Given the description of an element on the screen output the (x, y) to click on. 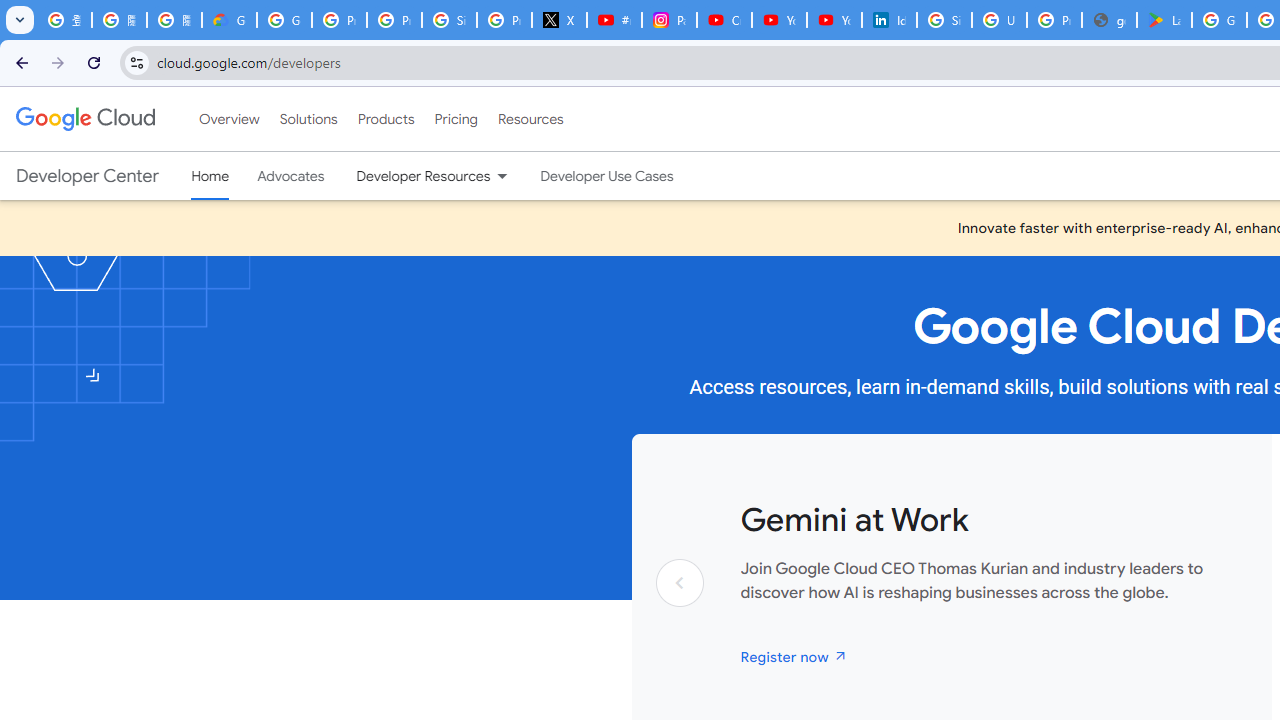
Sign in - Google Accounts (449, 20)
Privacy Help Center - Policies Help (394, 20)
Solutions (308, 119)
Dropdown menu for Developer Resources (502, 175)
Advocates (291, 175)
